Given the description of an element on the screen output the (x, y) to click on. 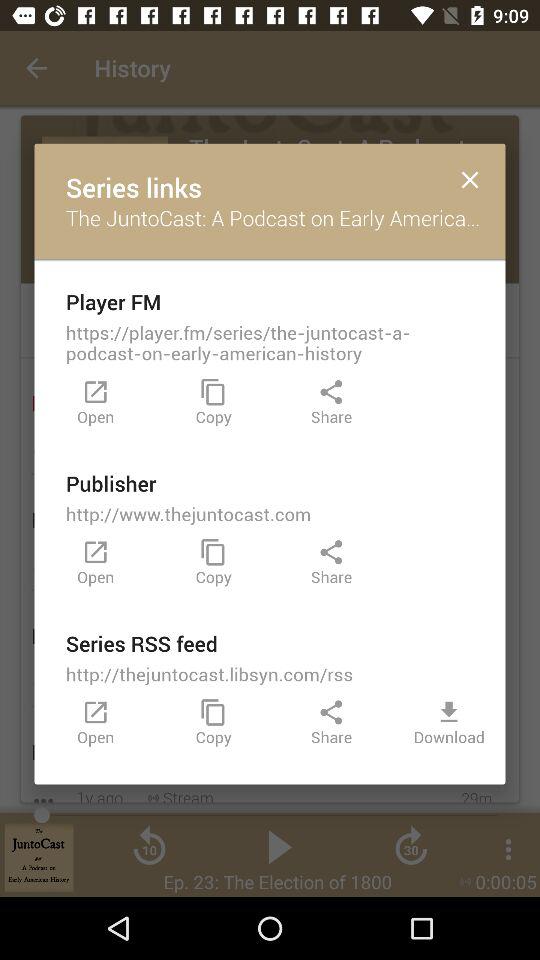
turn off item next to series links icon (469, 178)
